Given the description of an element on the screen output the (x, y) to click on. 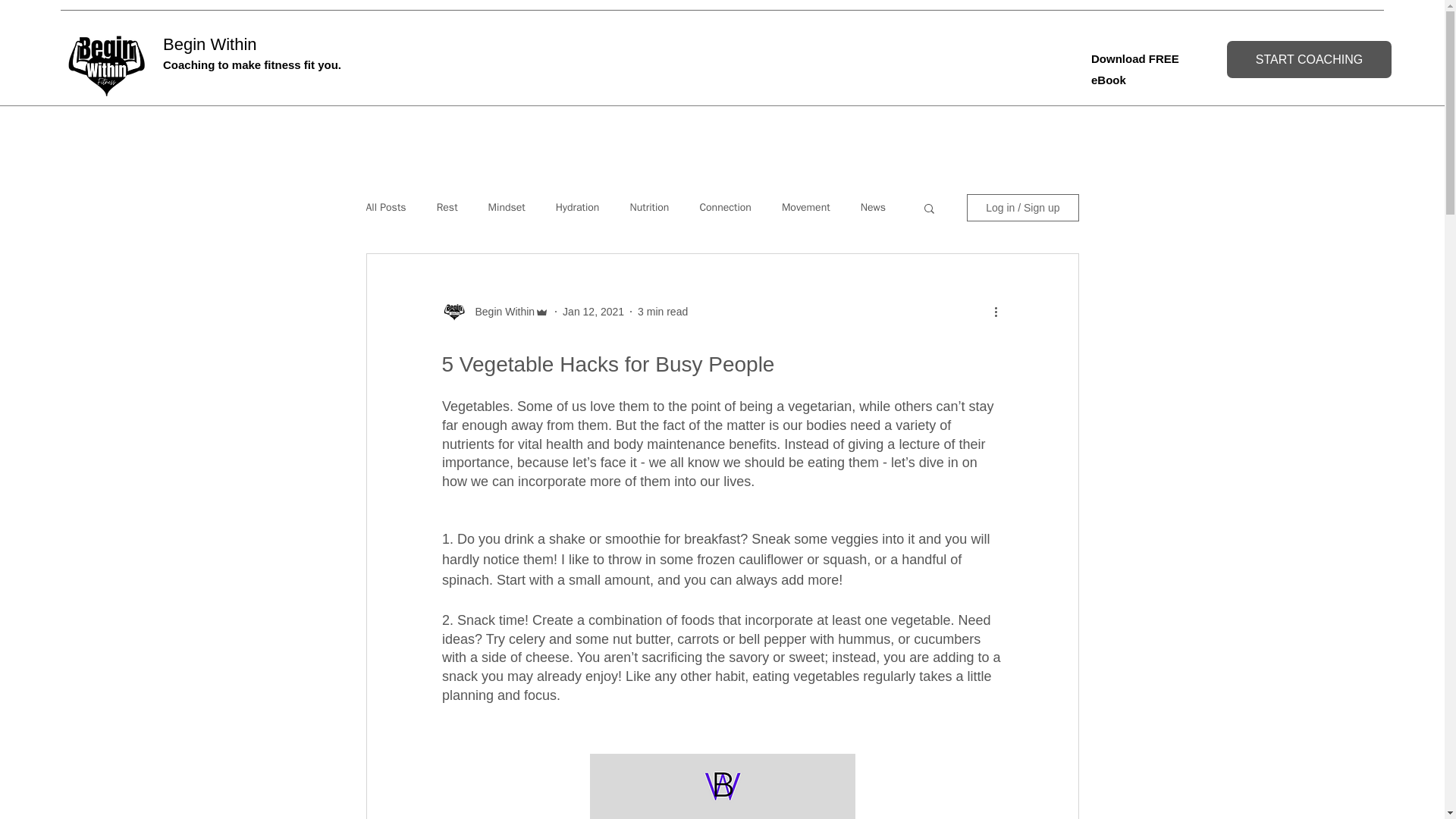
All Posts (385, 207)
3 min read (662, 310)
Nutrition (648, 207)
START COACHING (1309, 58)
Mindset (506, 207)
Begin Within (210, 44)
Rest (447, 207)
News (872, 207)
Begin Within (499, 311)
Movement (805, 207)
Hydration (577, 207)
Download FREE eBook (1134, 69)
Jan 12, 2021 (593, 310)
Connection (724, 207)
